Given the description of an element on the screen output the (x, y) to click on. 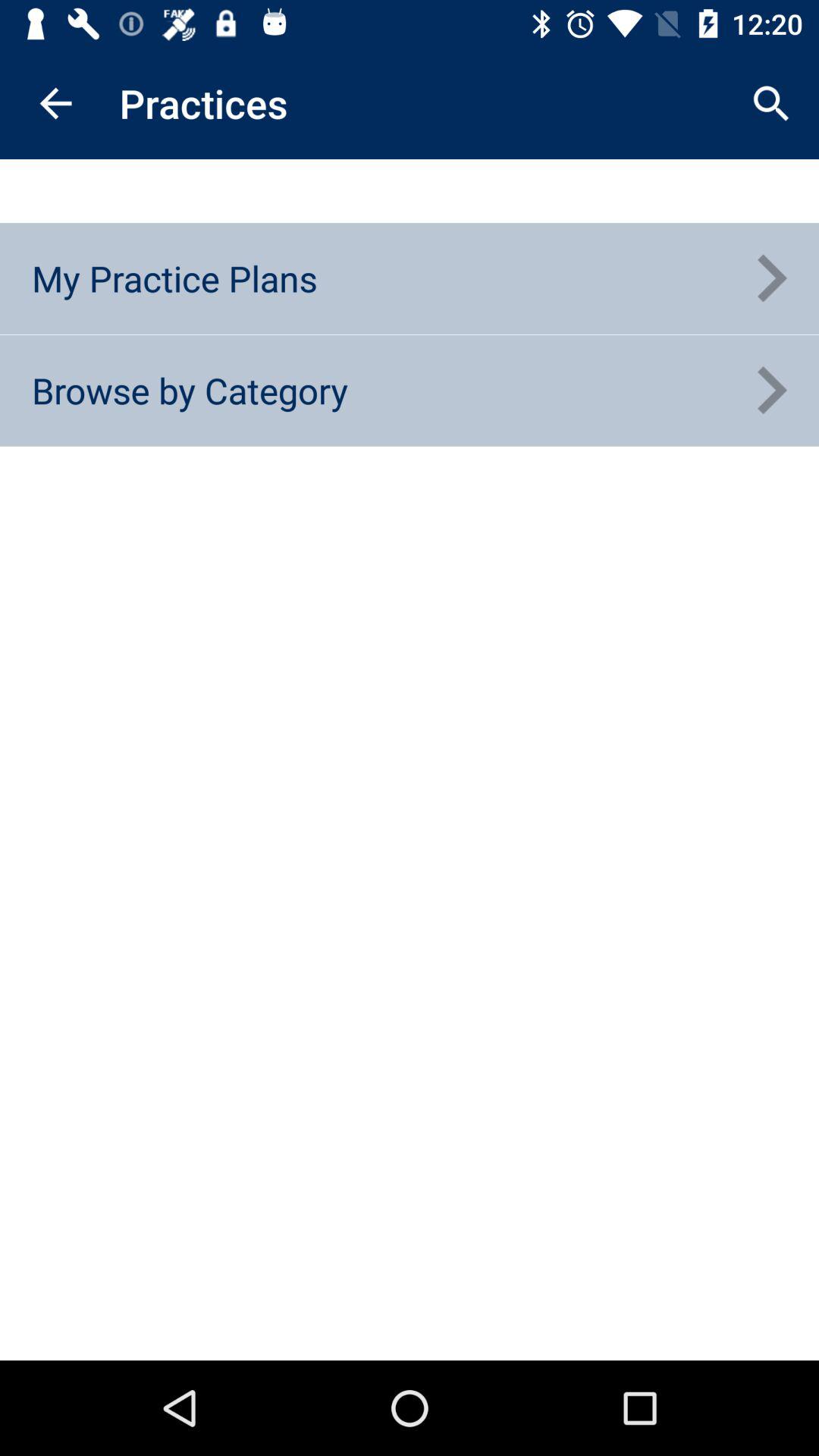
click the icon to the right of my practice plans icon (771, 278)
